Given the description of an element on the screen output the (x, y) to click on. 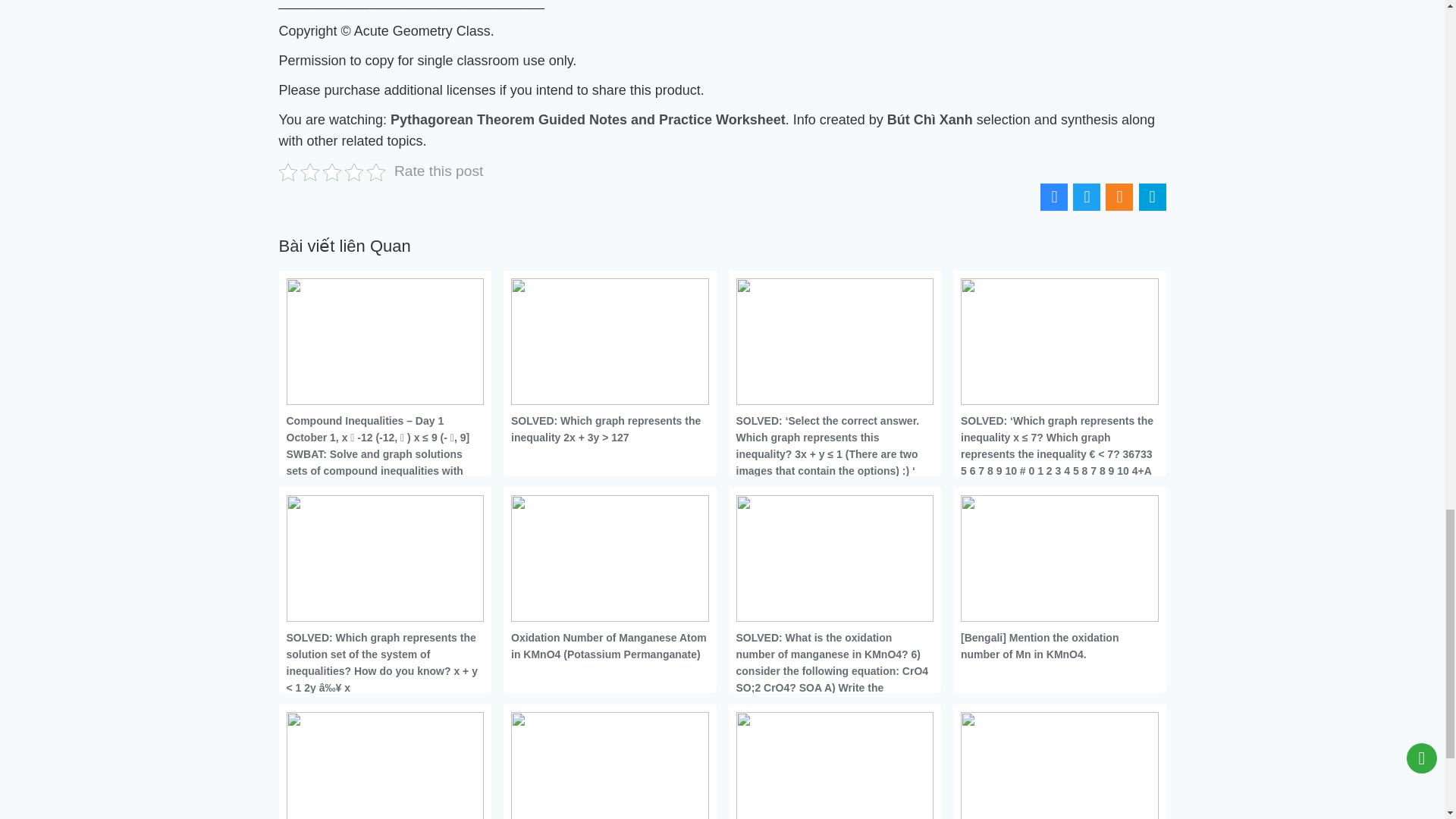
Pythagorean Theorem Guided Notes and Practice Worksheet (588, 119)
